Given the description of an element on the screen output the (x, y) to click on. 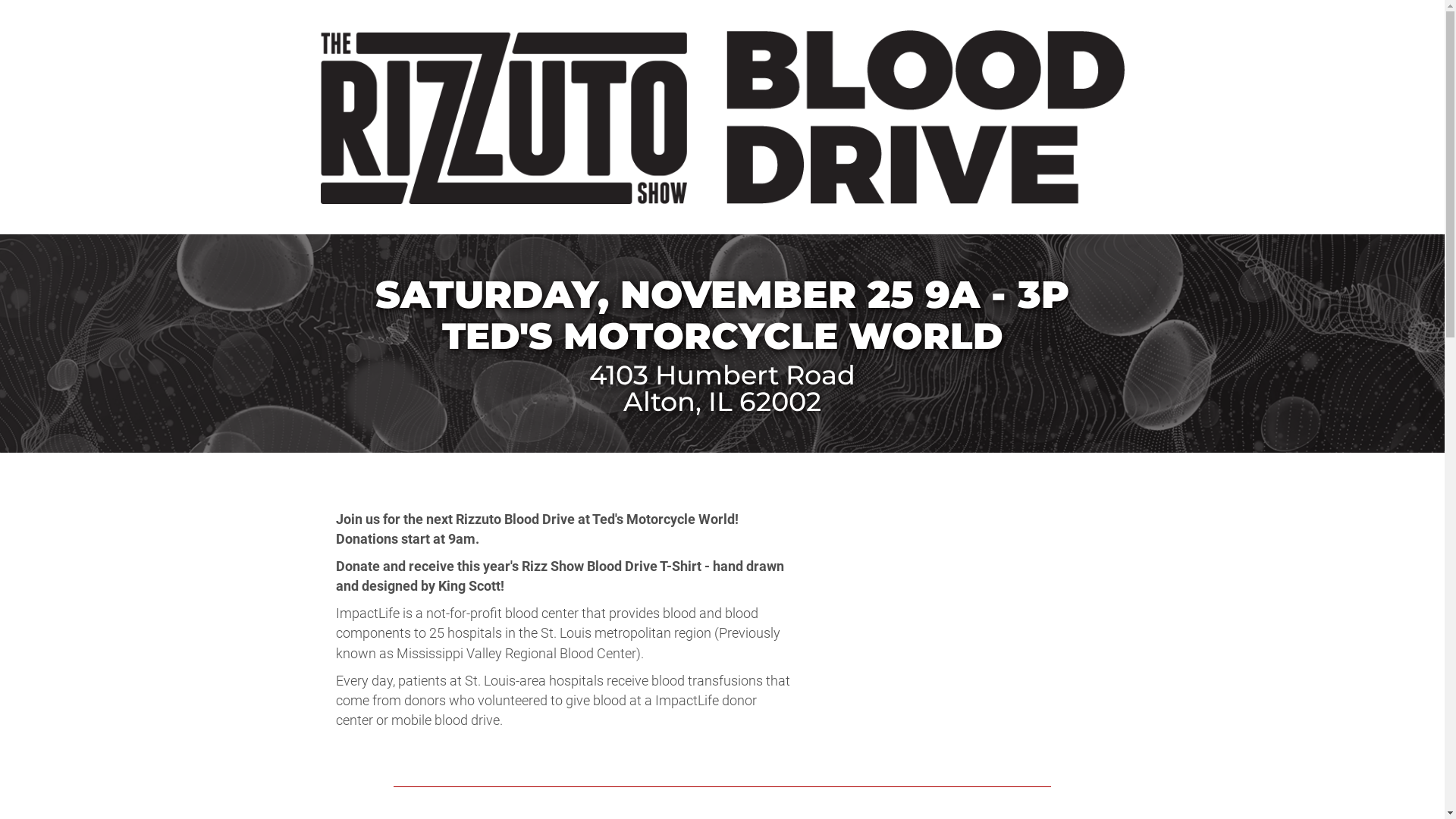
Desktop Element type: hover (721, 116)
